Given the description of an element on the screen output the (x, y) to click on. 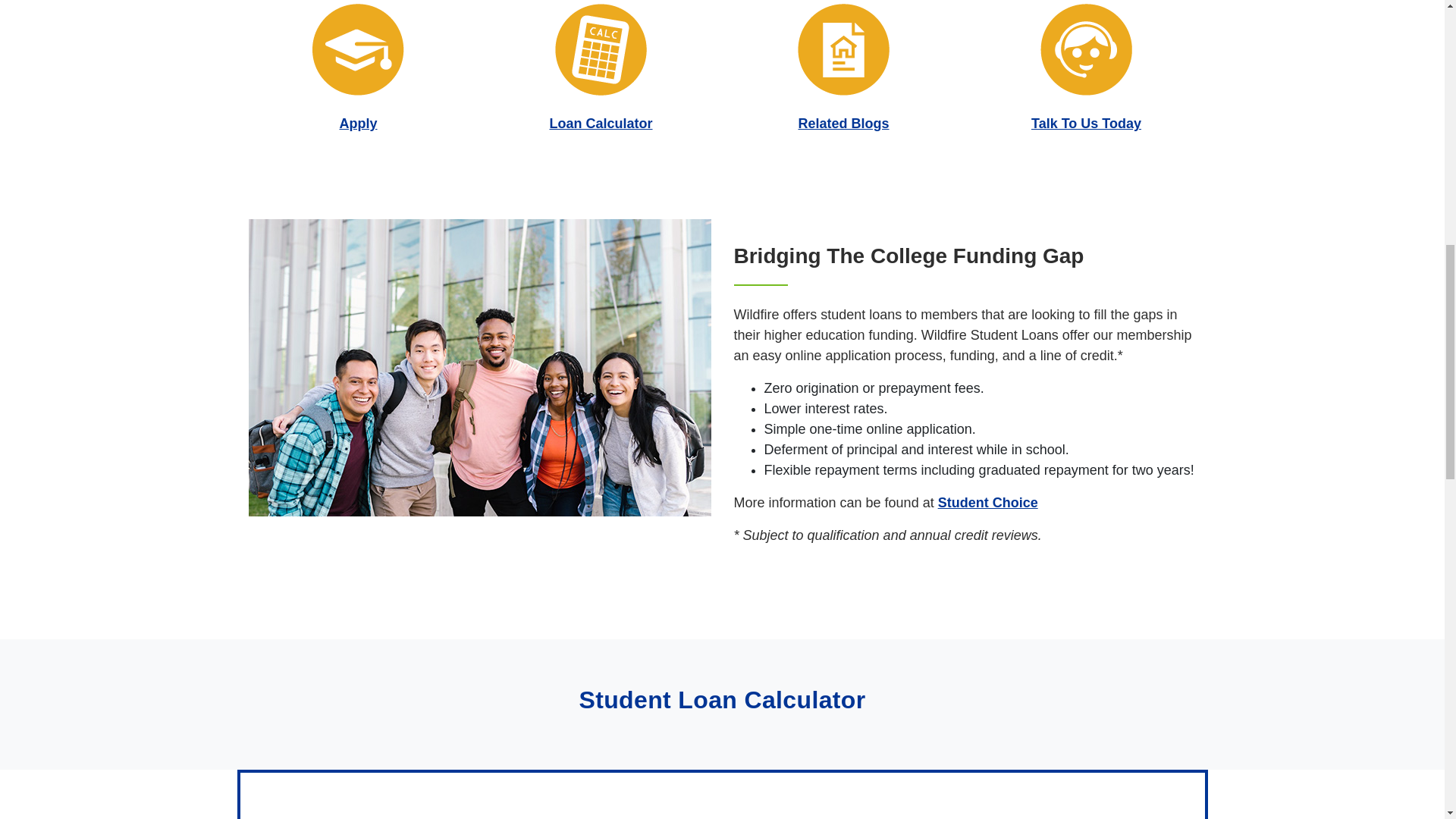
Student Choice Application (358, 49)
Tap or click to see related blogs (842, 123)
Student Loan Calculator (600, 49)
Tap or click to view our rates (600, 123)
Related blog posts (843, 49)
Tap or click to view our locations and contact info (1085, 123)
Contact Us (1086, 49)
